Given the description of an element on the screen output the (x, y) to click on. 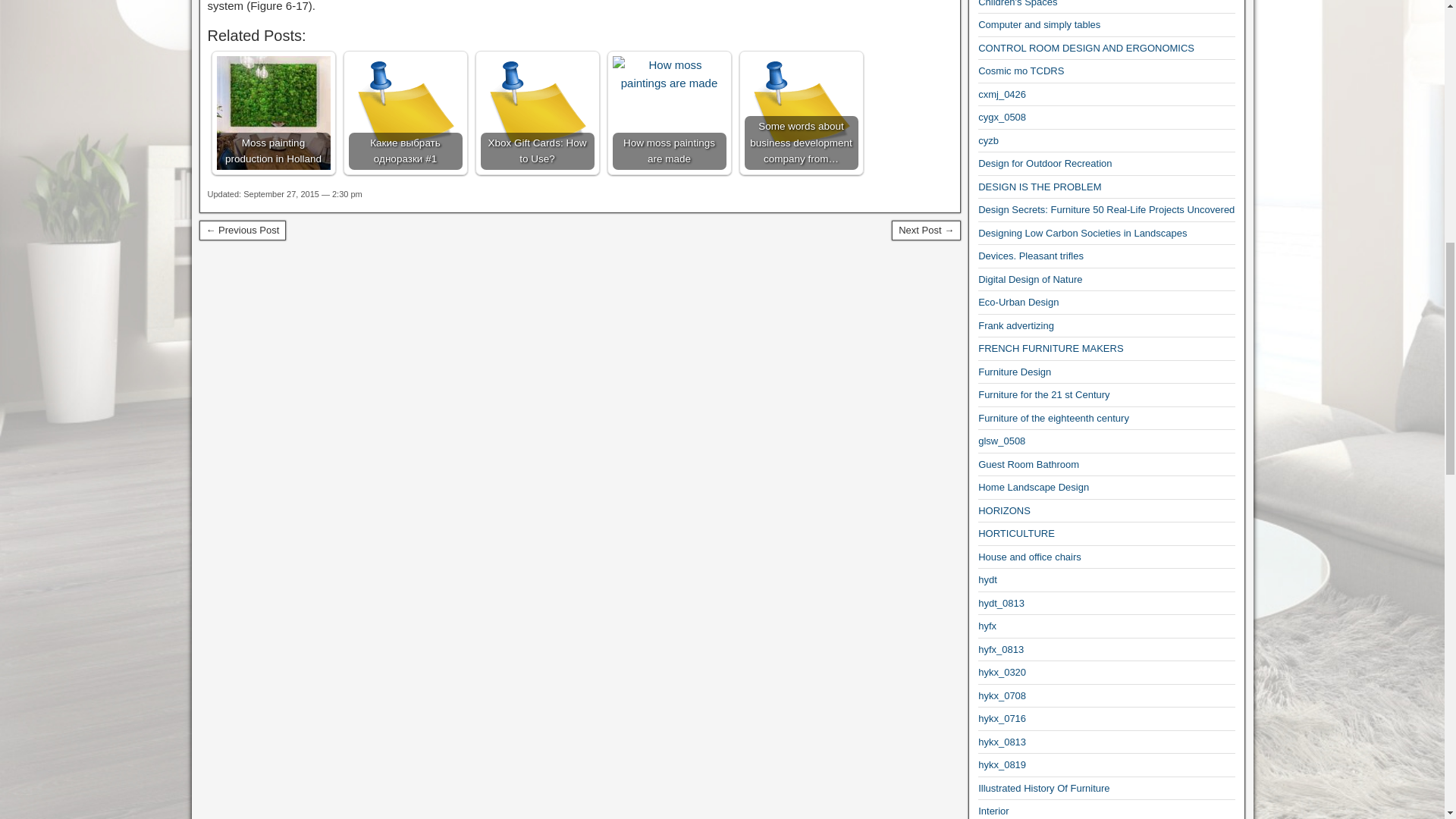
How moss paintings are made (669, 112)
How moss paintings are made (669, 74)
DESIGN IS THE PROBLEM (1039, 186)
Devices. Pleasant trifles (1030, 255)
Computer and simply tables (1039, 24)
Design Secrets: Furniture 50 Real-Life Projects Uncovered (1106, 209)
Digital Design of Nature (1029, 279)
Cosmic mo TCDRS (1021, 70)
CONTROL ROOM DESIGN AND ERGONOMICS (1085, 48)
Xbox Gift Cards: How to Use? (537, 112)
Moss painting production in Holland (273, 112)
Moss painting production in Holland (273, 112)
Xbox Gift Cards: How to Use? (537, 112)
Children's Spaces (1017, 3)
